Given the description of an element on the screen output the (x, y) to click on. 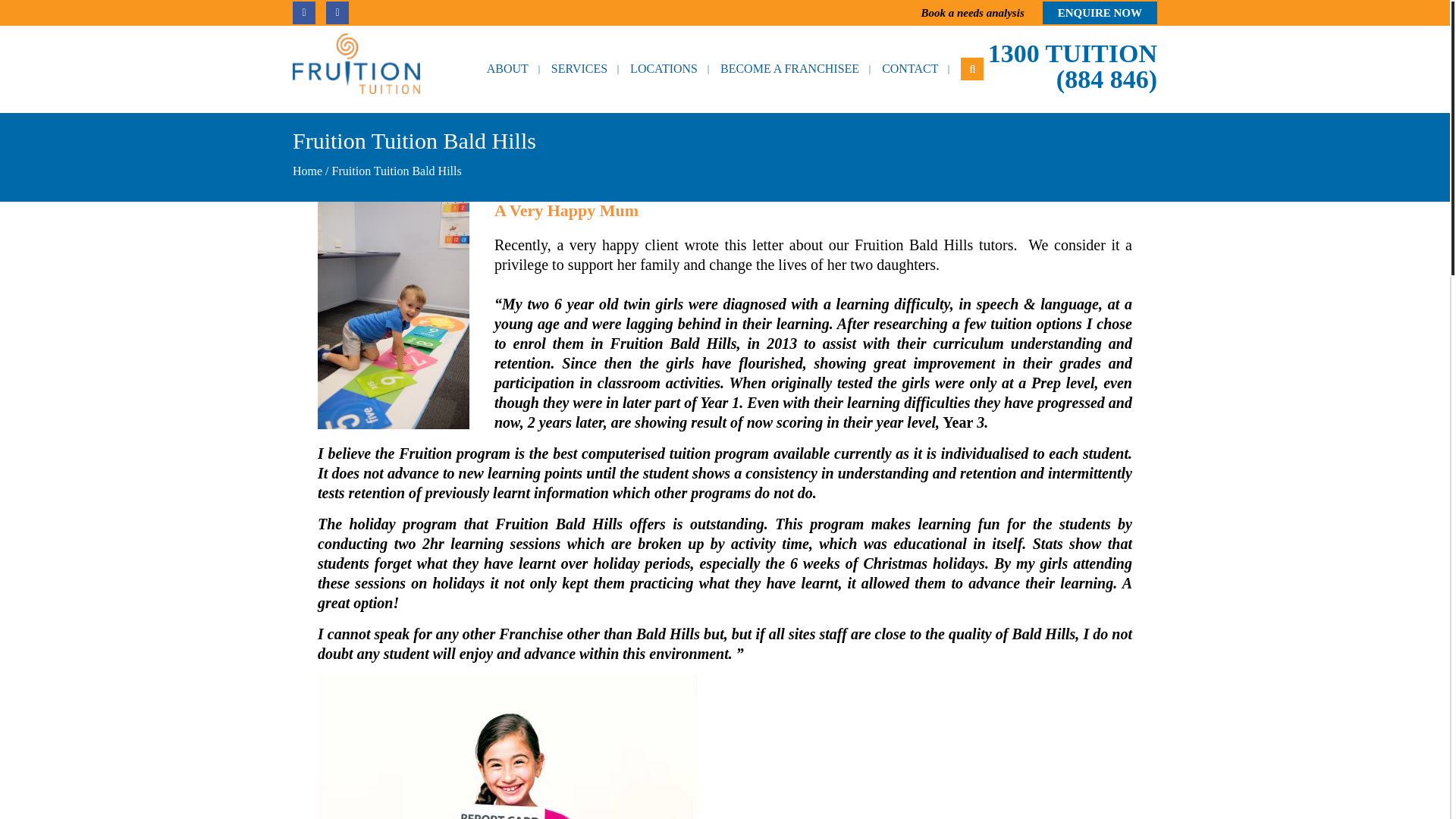
Happy Child with Excellent Report Card (507, 746)
ENQUIRE NOW (1099, 12)
LOCATIONS (663, 68)
Home (306, 170)
BECOME A FRANCHISEE (789, 68)
